Given the description of an element on the screen output the (x, y) to click on. 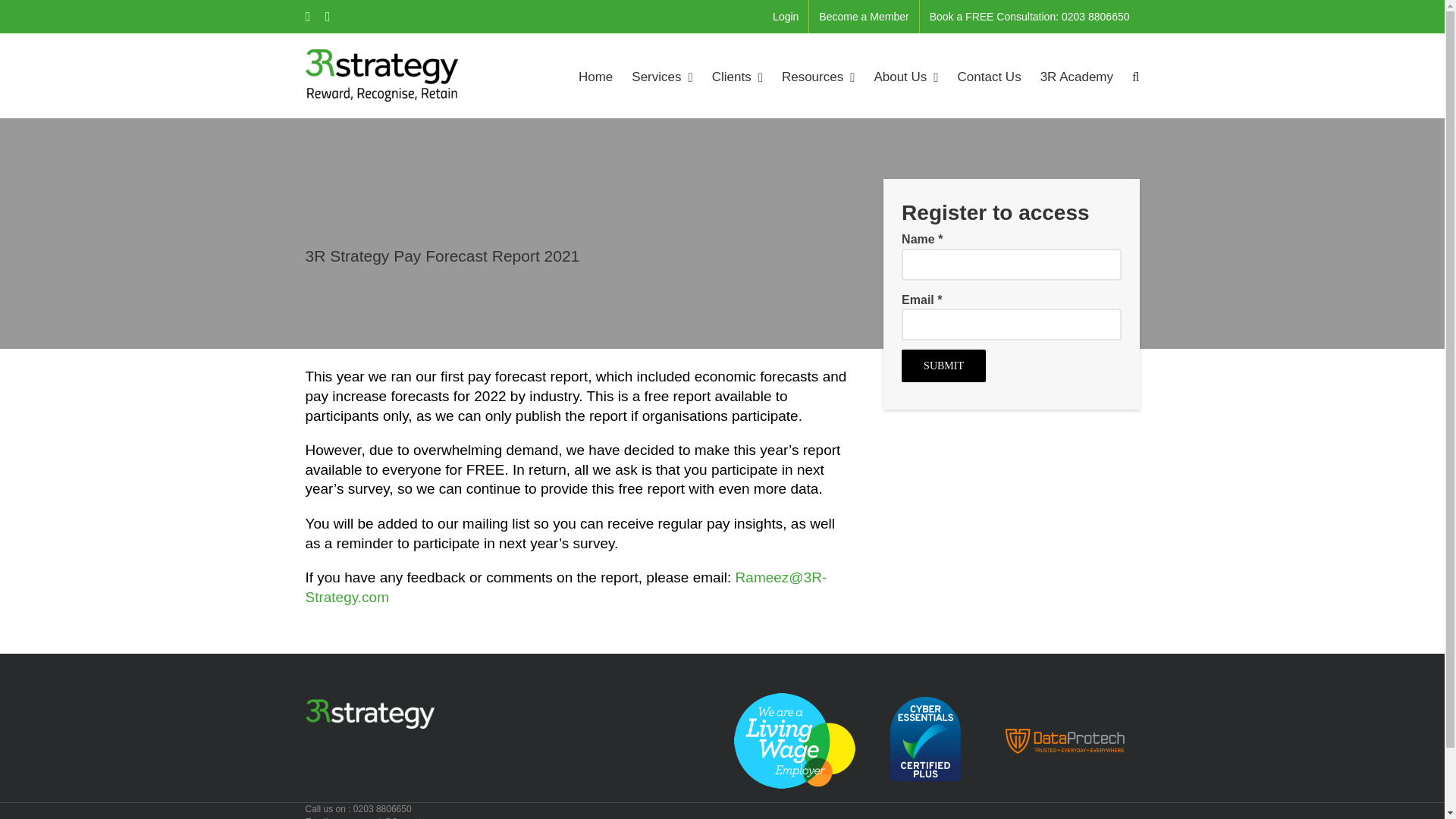
Become a Member (863, 16)
Book a FREE Consultation: 0203 8806650 (1030, 16)
Login (785, 16)
Submit (943, 365)
